Given the description of an element on the screen output the (x, y) to click on. 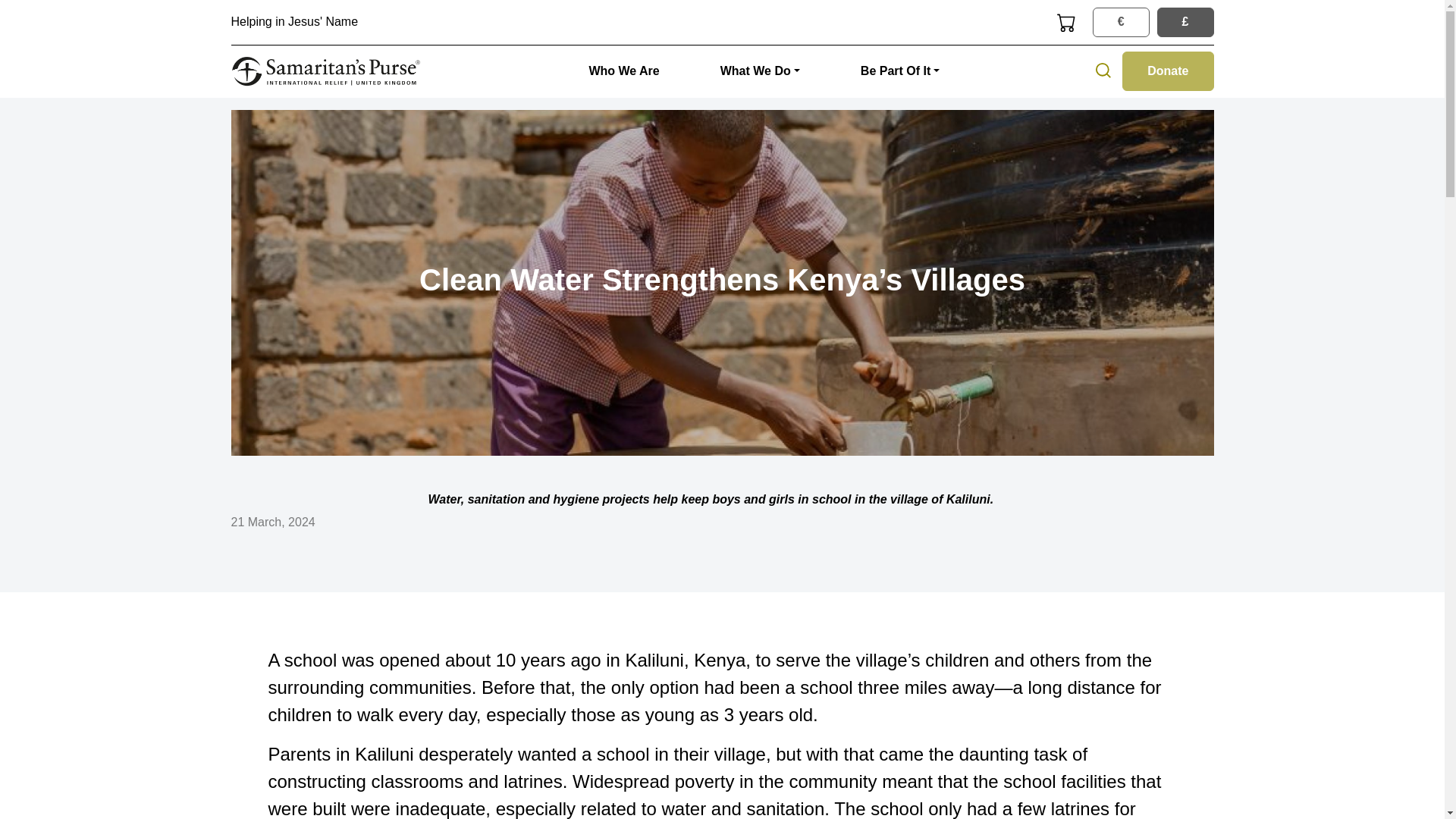
GBP (1162, 12)
Who We Are (623, 71)
Home (325, 71)
Donate (1167, 70)
Submit (45, 14)
Samaritans Purse (325, 71)
EUR (1097, 12)
Be Part Of It (900, 71)
What We Do (760, 71)
